Given the description of an element on the screen output the (x, y) to click on. 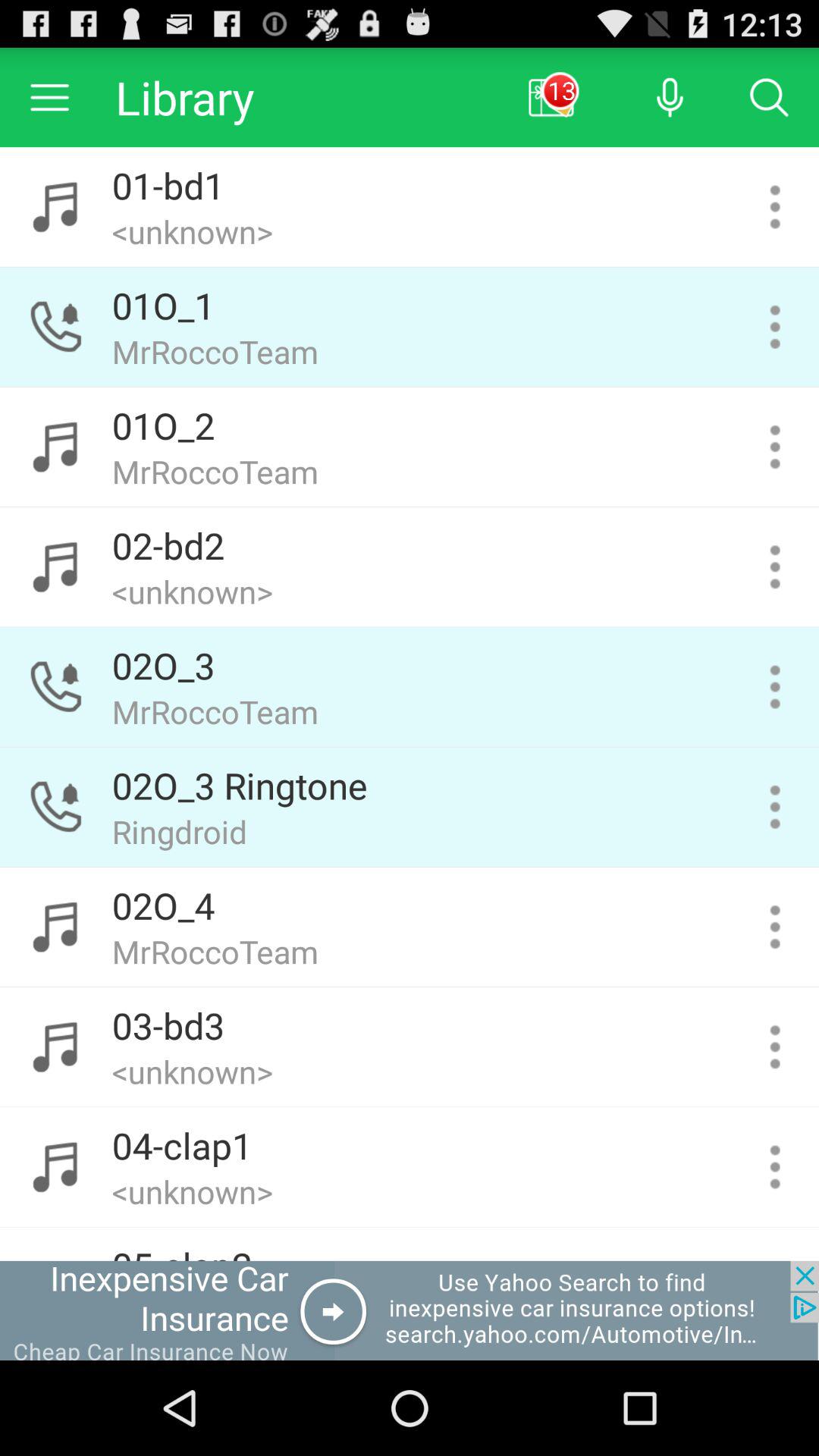
add song (775, 1166)
